Given the description of an element on the screen output the (x, y) to click on. 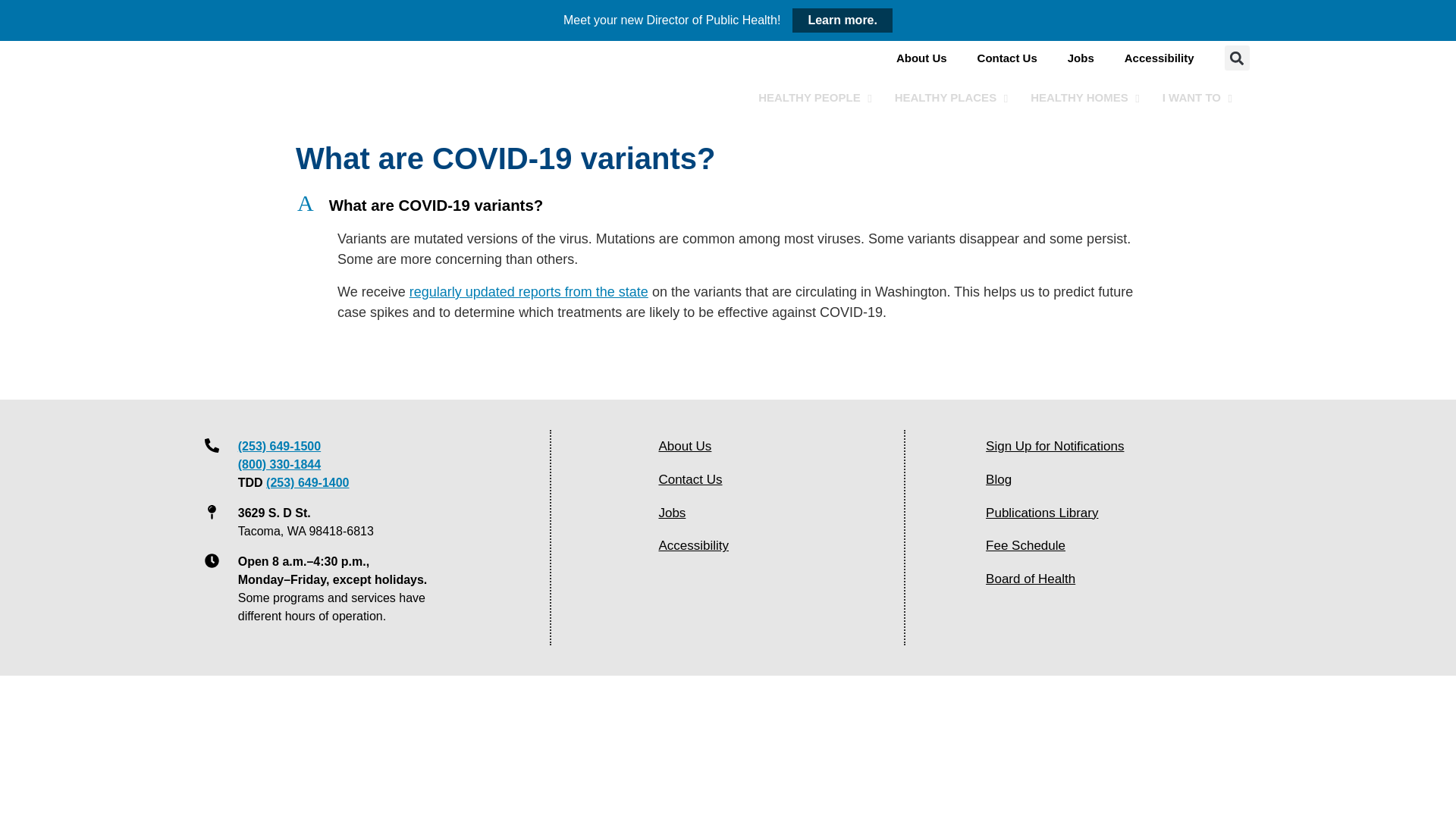
Learn more. (827, 97)
